Given the description of an element on the screen output the (x, y) to click on. 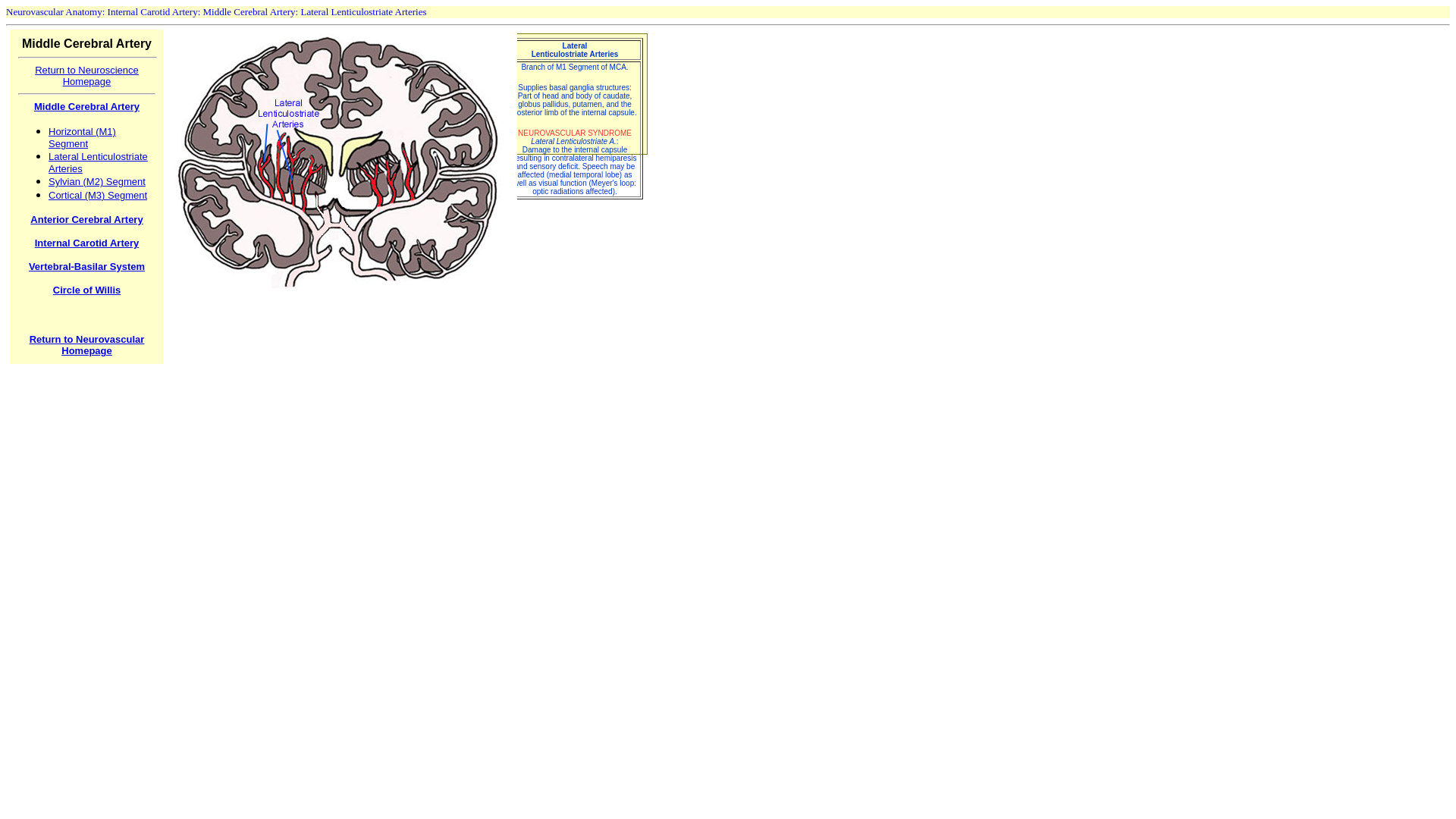
Vertebral-Basilar System (86, 266)
Return to Neurovascular Homepage (86, 344)
Internal Carotid Artery (86, 242)
Return to Neuroscience Homepage (86, 74)
Anterior Cerebral Artery (86, 218)
Middle Cerebral Artery (86, 105)
Circle of Willis (86, 289)
Lateral Lenticulostriate Arteries (98, 162)
